Given the description of an element on the screen output the (x, y) to click on. 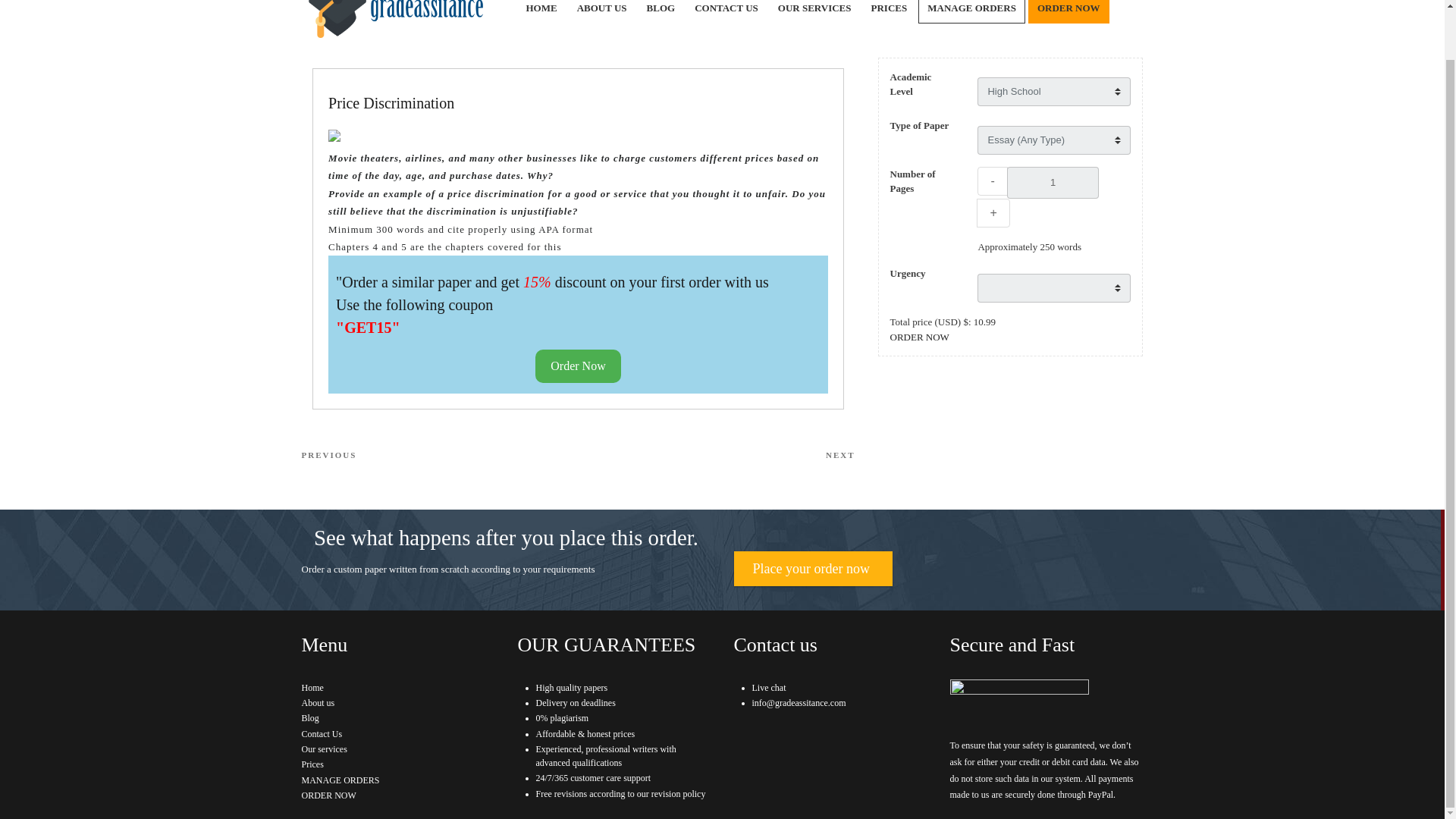
ORDER NOW (919, 336)
Prices (312, 764)
MANAGE ORDERS (340, 779)
Our services (324, 748)
BLOG (661, 11)
OUR SERVICES (815, 11)
Contact Us (321, 733)
ORDER NOW (328, 795)
PRICES (889, 11)
ORDER NOW (1068, 11)
CONTACT US (726, 11)
Order Now (577, 366)
1 (1053, 183)
Blog (716, 454)
